Given the description of an element on the screen output the (x, y) to click on. 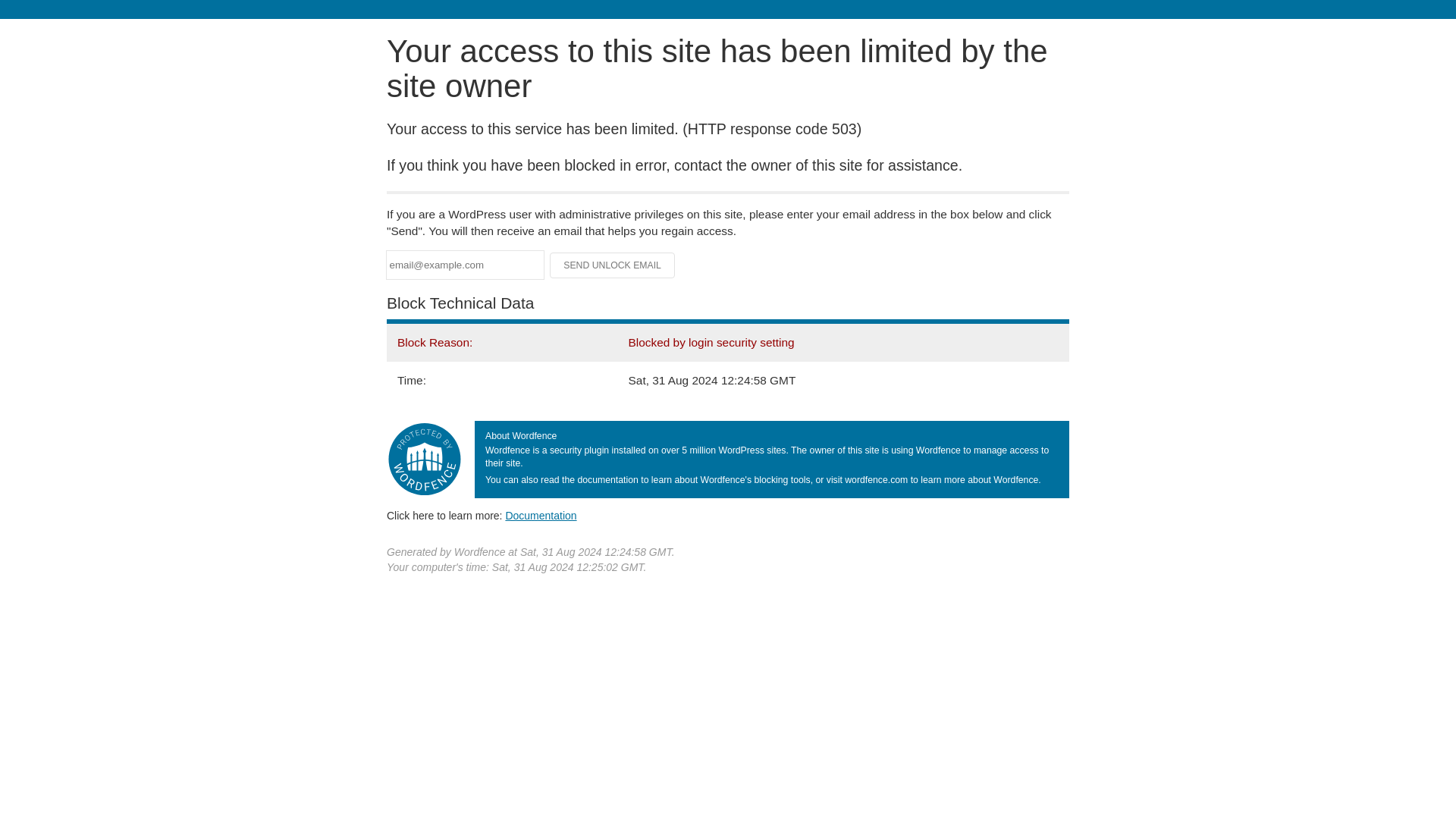
Documentation (540, 515)
Send Unlock Email (612, 265)
Send Unlock Email (612, 265)
